Given the description of an element on the screen output the (x, y) to click on. 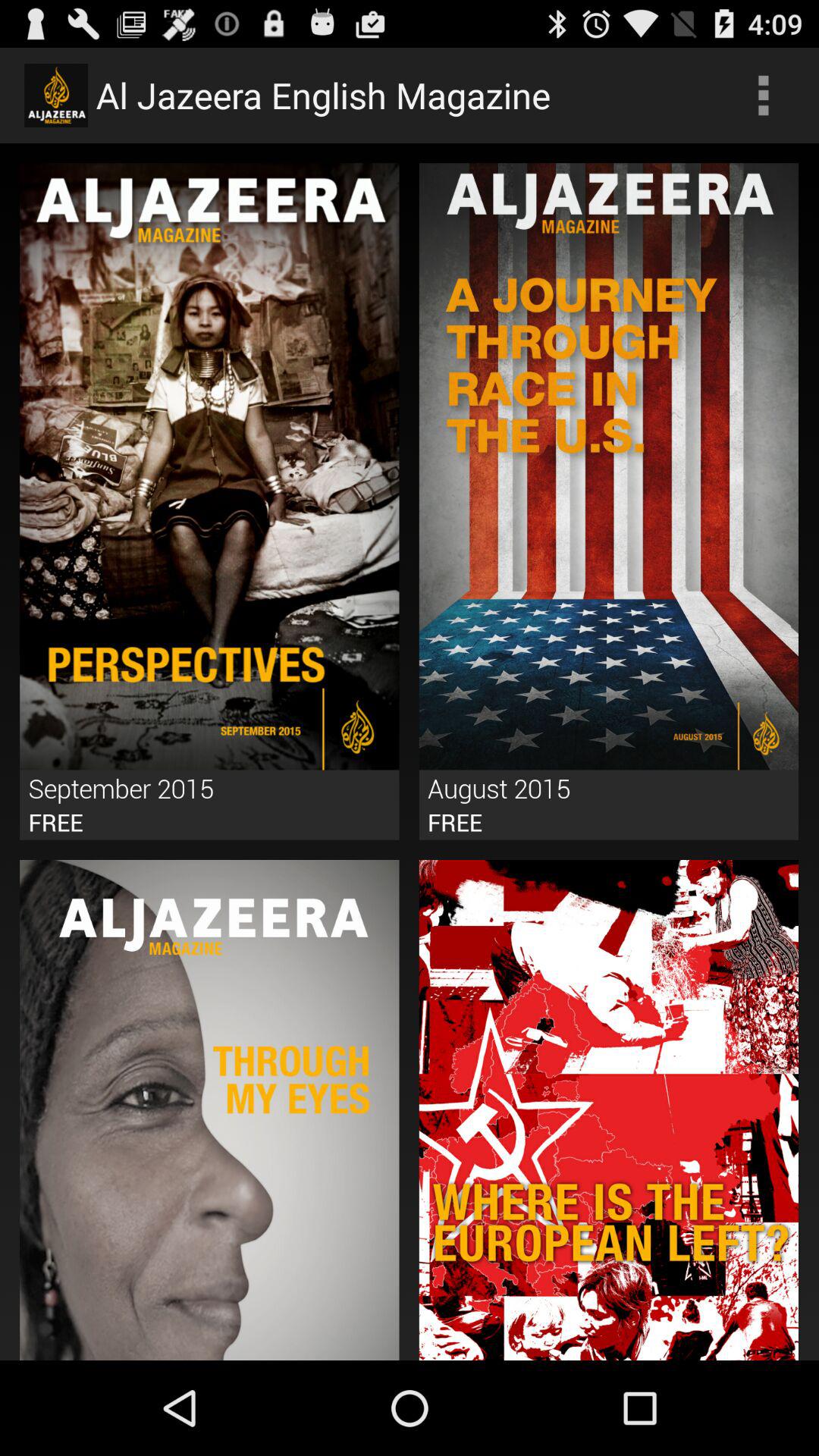
open the icon to the right of al jazeera english icon (763, 95)
